Given the description of an element on the screen output the (x, y) to click on. 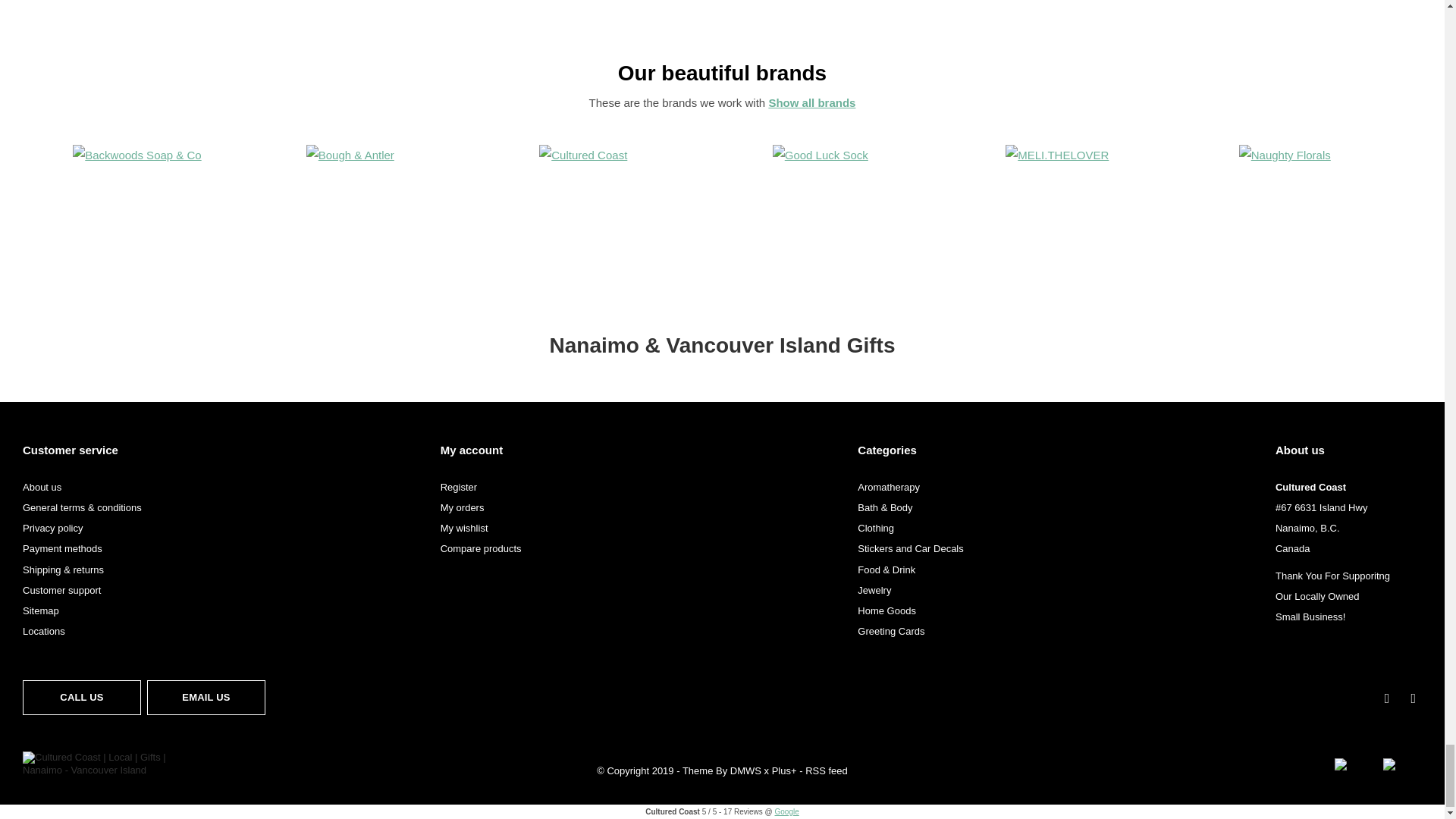
Register (459, 487)
My orders (462, 507)
My wishlist (464, 527)
